Given the description of an element on the screen output the (x, y) to click on. 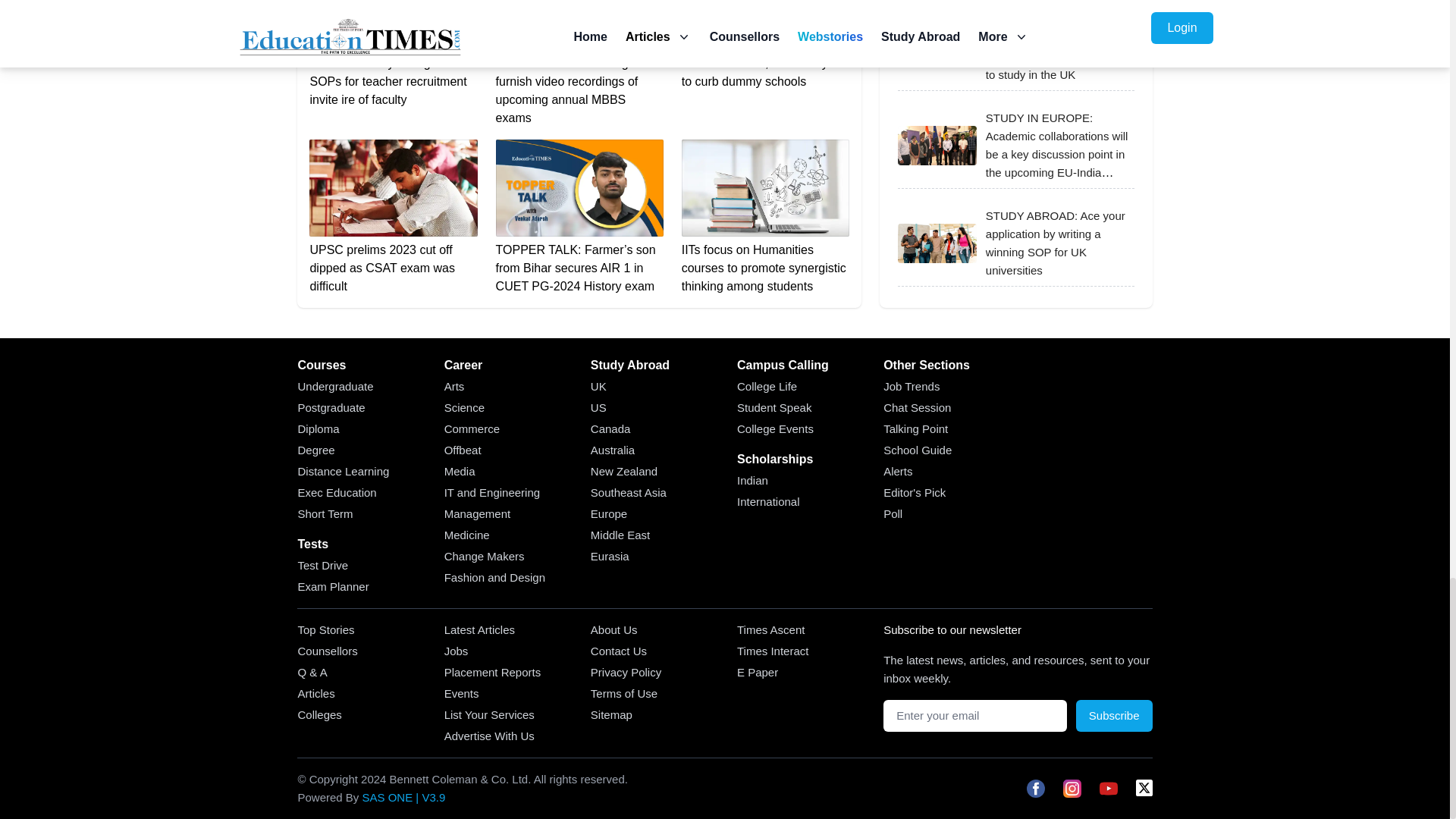
CBSE to use AI, data analysis to curb dummy schools (764, 45)
UPSC prelims 2023 cut off dipped as CSAT exam was difficult (392, 217)
